Given the description of an element on the screen output the (x, y) to click on. 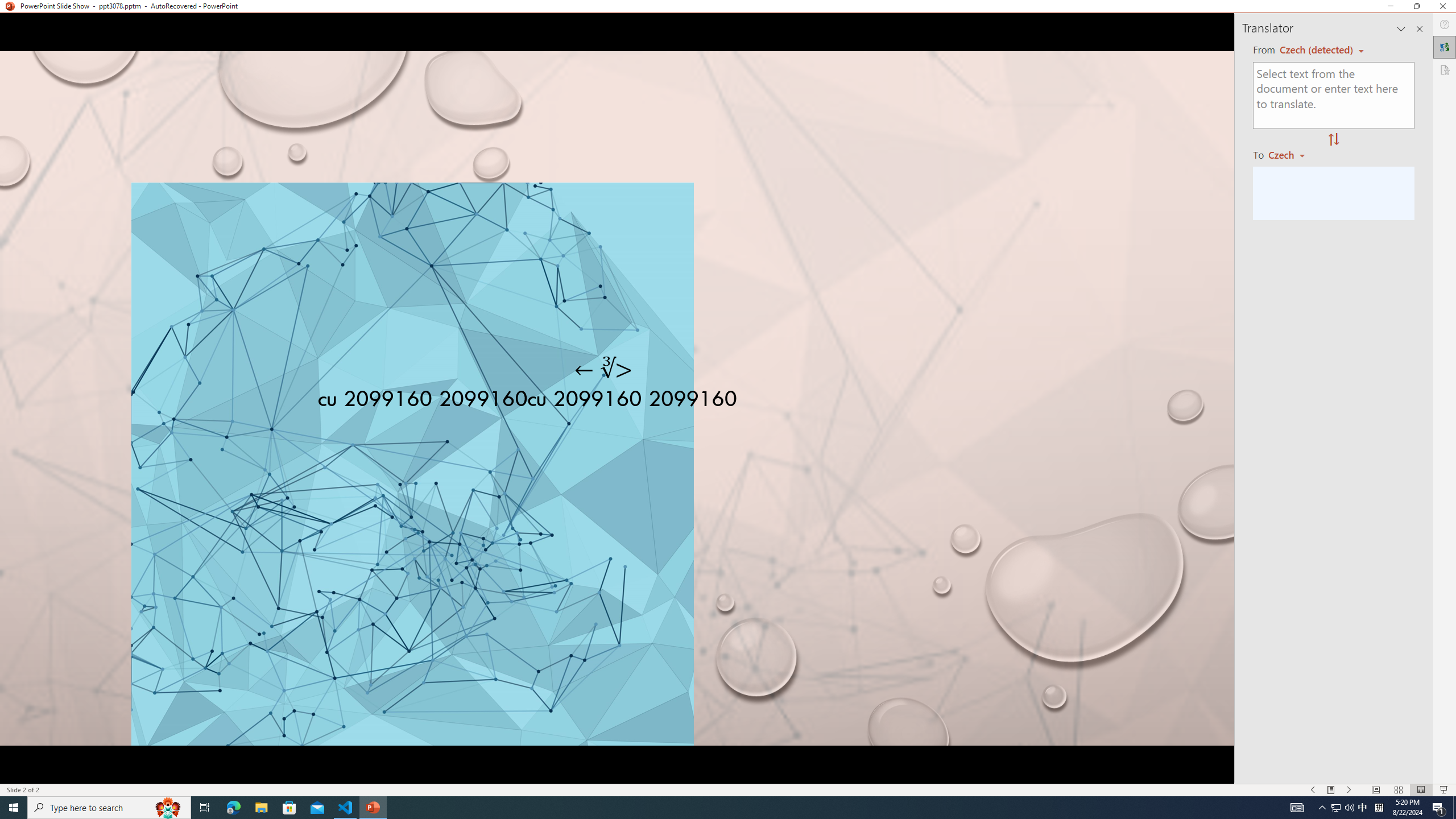
Help (1444, 24)
Reading View (1420, 790)
Class: MsoCommandBar (728, 789)
System (6, 6)
Close pane (1419, 29)
Slide Show Previous On (1313, 790)
Slide Show Next On (1349, 790)
Task Pane Options (1400, 29)
Translator (1444, 47)
System (6, 6)
Swap "from" and "to" languages. (1333, 140)
Slide Sorter (1398, 790)
Accessibility (1444, 69)
Czech (detected) (1317, 50)
